Given the description of an element on the screen output the (x, y) to click on. 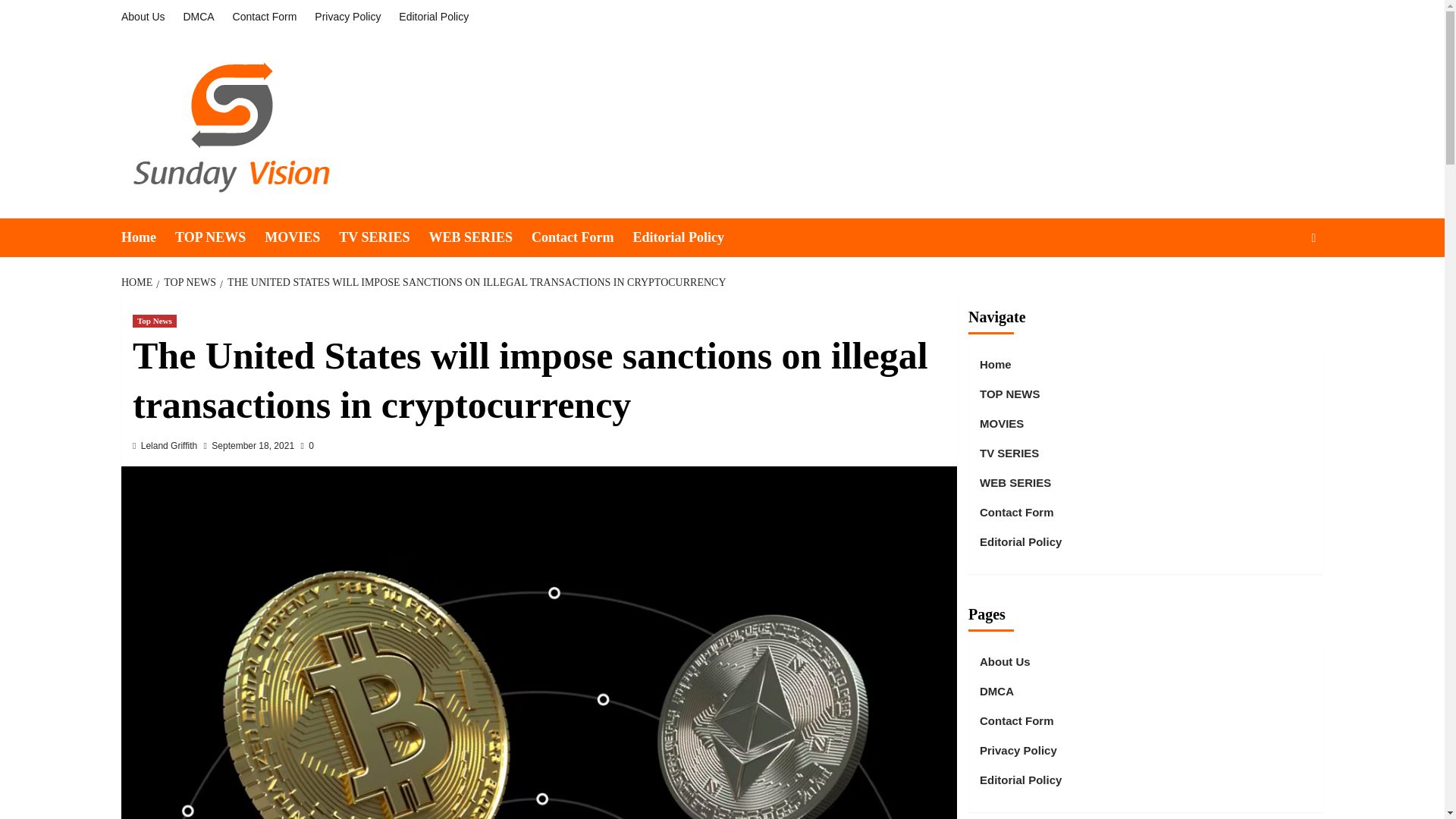
0 (306, 445)
Privacy Policy (347, 17)
Top News (154, 320)
HOME (137, 282)
Contact Form (264, 17)
Search (1278, 283)
September 18, 2021 (252, 445)
MOVIES (301, 237)
TV SERIES (383, 237)
About Us (146, 17)
Editorial Policy (686, 237)
TOP NEWS (219, 237)
Leland Griffith (169, 445)
